Given the description of an element on the screen output the (x, y) to click on. 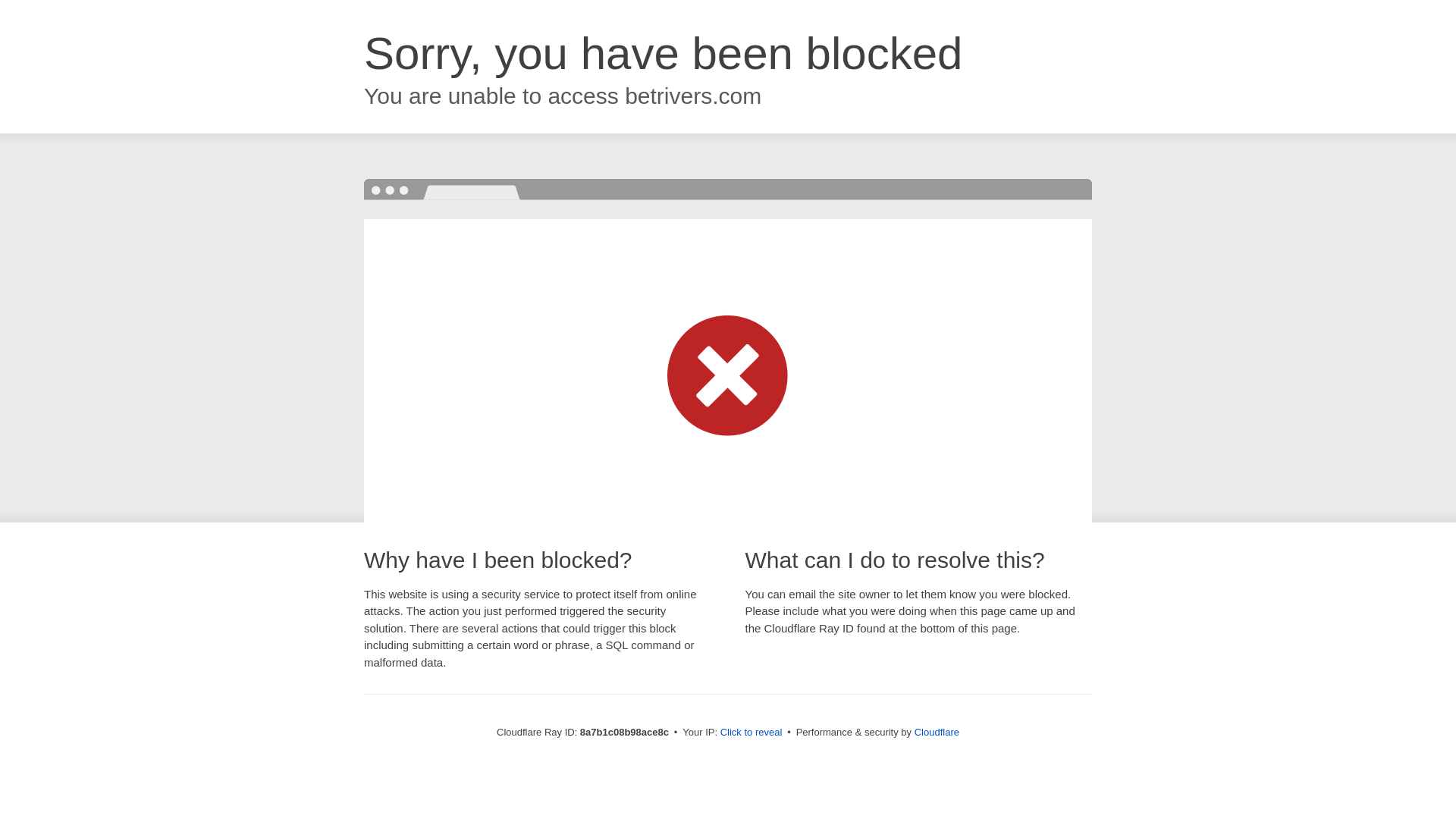
Cloudflare (936, 731)
Click to reveal (751, 732)
